Given the description of an element on the screen output the (x, y) to click on. 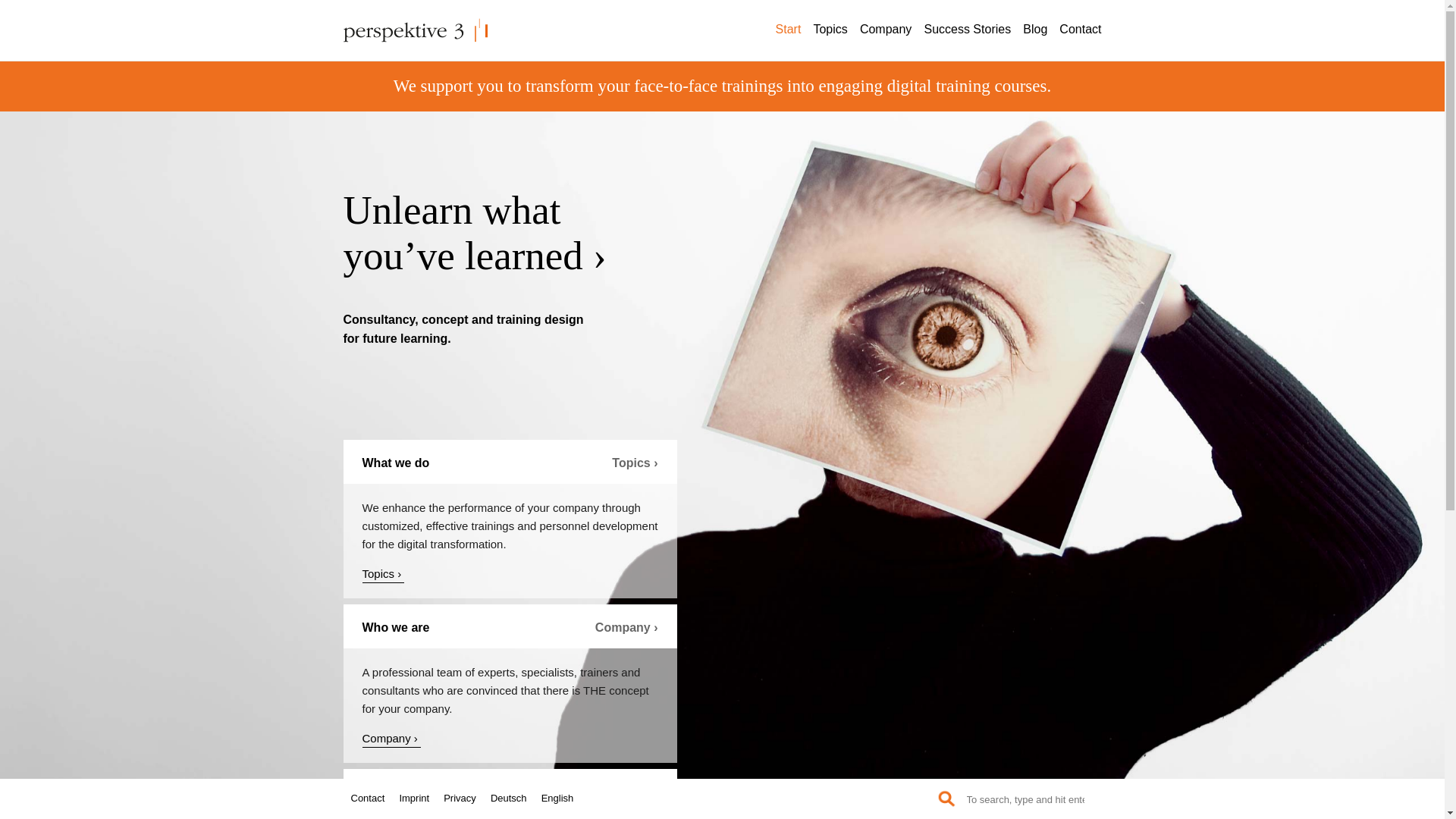
Blog (1029, 32)
Success Stories (962, 32)
Topics (825, 32)
Contact (1074, 32)
English (563, 797)
Imprint (419, 797)
Deutsch (514, 797)
Unternehmen (392, 739)
Privacy (465, 797)
Contact (373, 797)
Themen (383, 575)
Start (784, 32)
Company (880, 32)
